Given the description of an element on the screen output the (x, y) to click on. 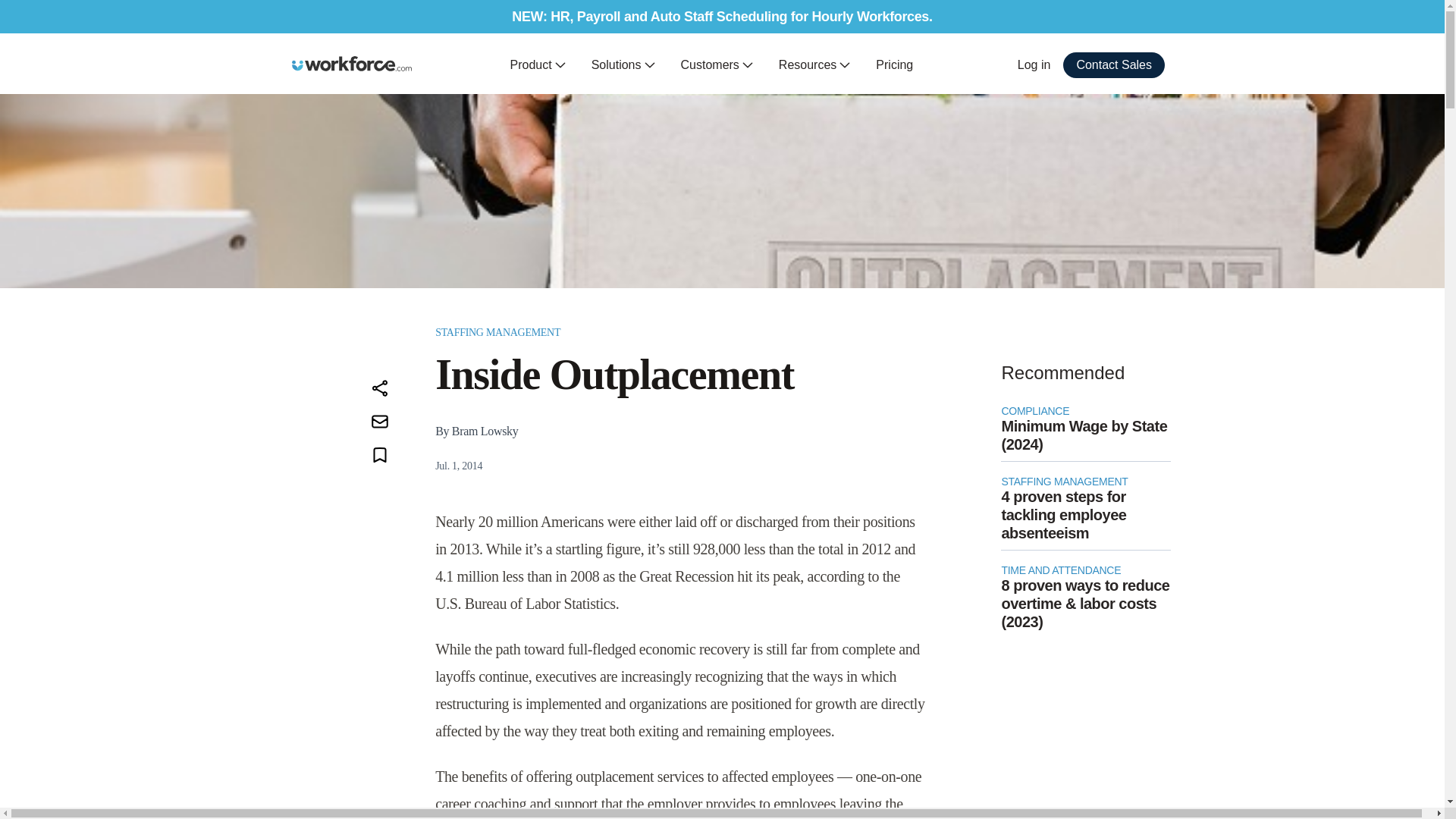
Workforce.com (351, 63)
Solutions (623, 65)
Product (539, 65)
